Given the description of an element on the screen output the (x, y) to click on. 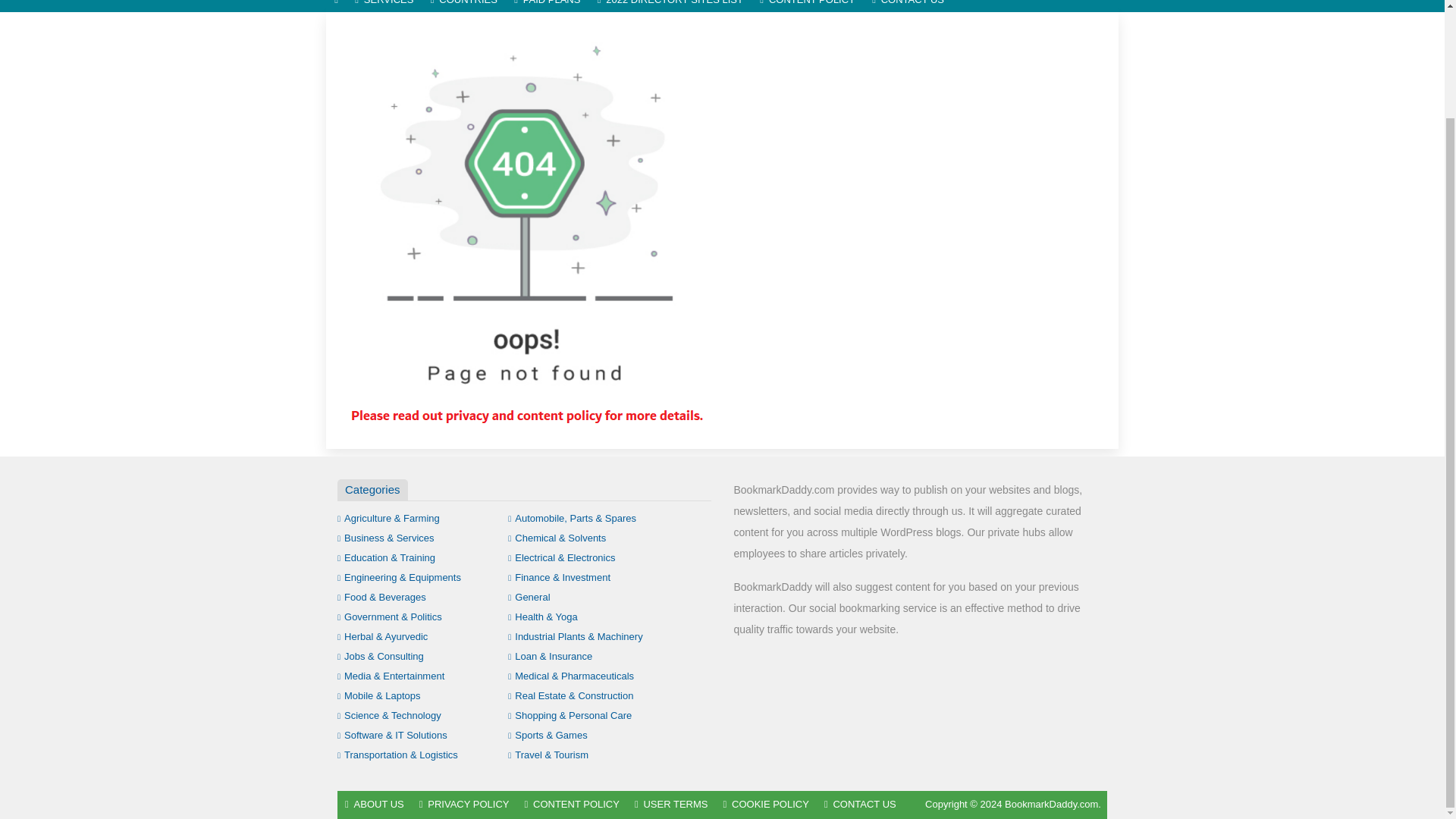
2022 DIRECTORY SITES LIST (670, 6)
COUNTRIES (463, 6)
HOME (336, 6)
CONTACT US (907, 6)
PAID PLANS (547, 6)
General (529, 596)
SERVICES (384, 6)
CONTENT POLICY (807, 6)
